Given the description of an element on the screen output the (x, y) to click on. 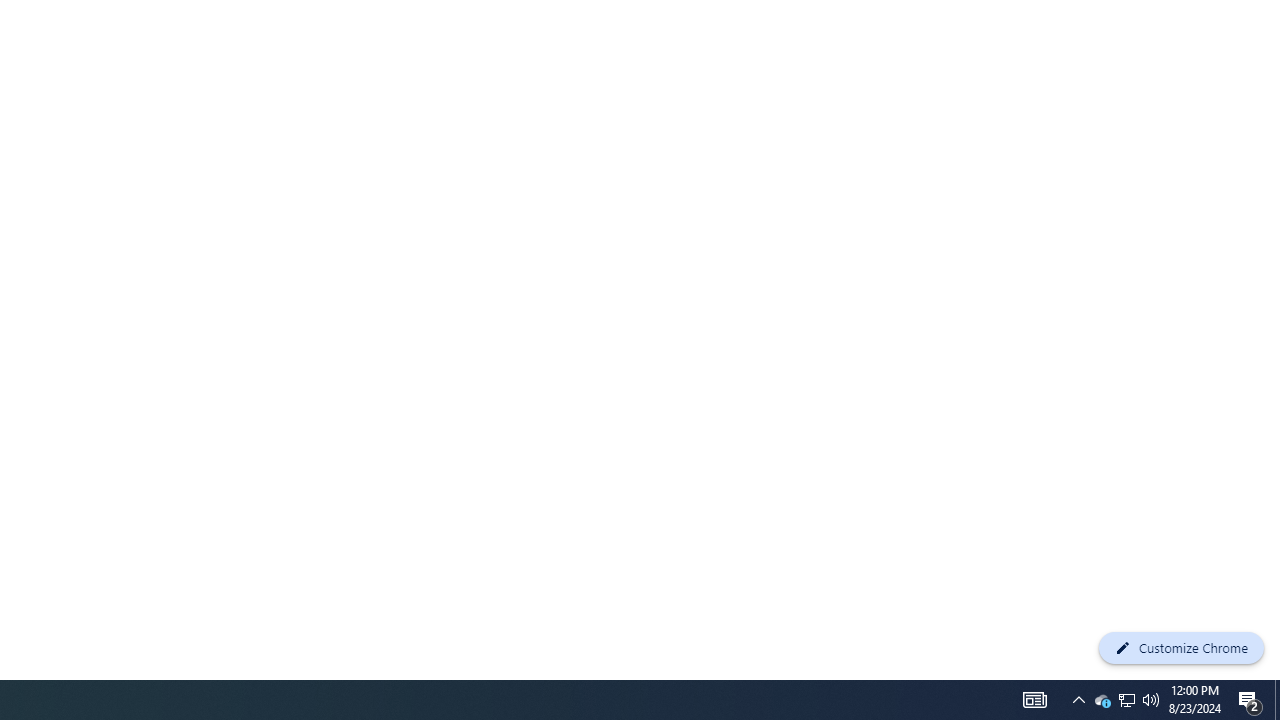
Customize Chrome (1181, 647)
